Given the description of an element on the screen output the (x, y) to click on. 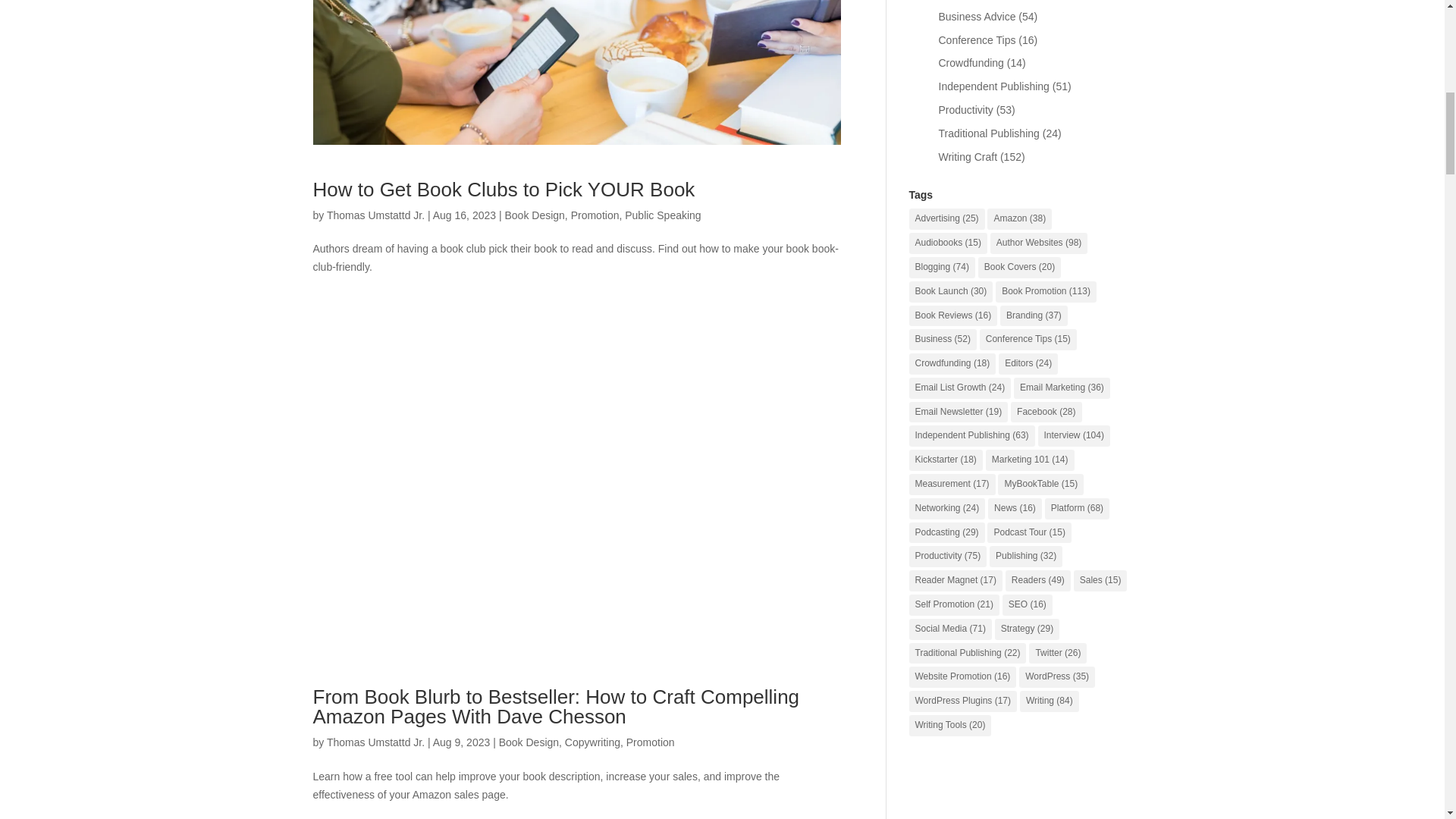
Posts by Thomas Umstattd Jr. (375, 742)
Promotion (650, 742)
Promotion (595, 215)
Book Design (533, 215)
Posts by Thomas Umstattd Jr. (375, 215)
Copywriting (592, 742)
Thomas Umstattd Jr. (375, 742)
Public Speaking (662, 215)
How to Get Book Clubs to Pick YOUR Book (503, 189)
Thomas Umstattd Jr. (375, 215)
Book Design (529, 742)
